Given the description of an element on the screen output the (x, y) to click on. 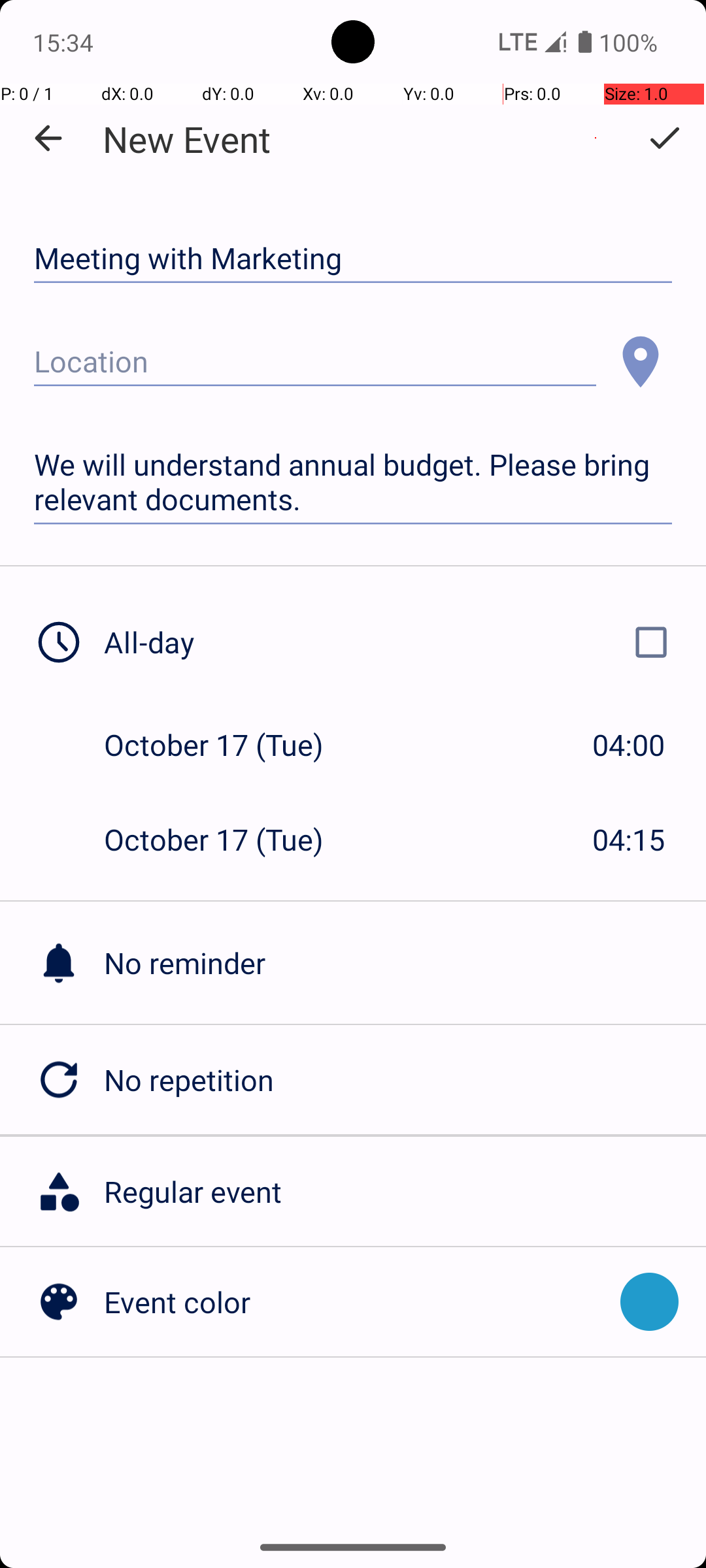
We will understand annual budget. Please bring relevant documents. Element type: android.widget.EditText (352, 482)
October 17 (Tue) Element type: android.widget.TextView (227, 744)
04:00 Element type: android.widget.TextView (628, 744)
04:15 Element type: android.widget.TextView (628, 838)
